Given the description of an element on the screen output the (x, y) to click on. 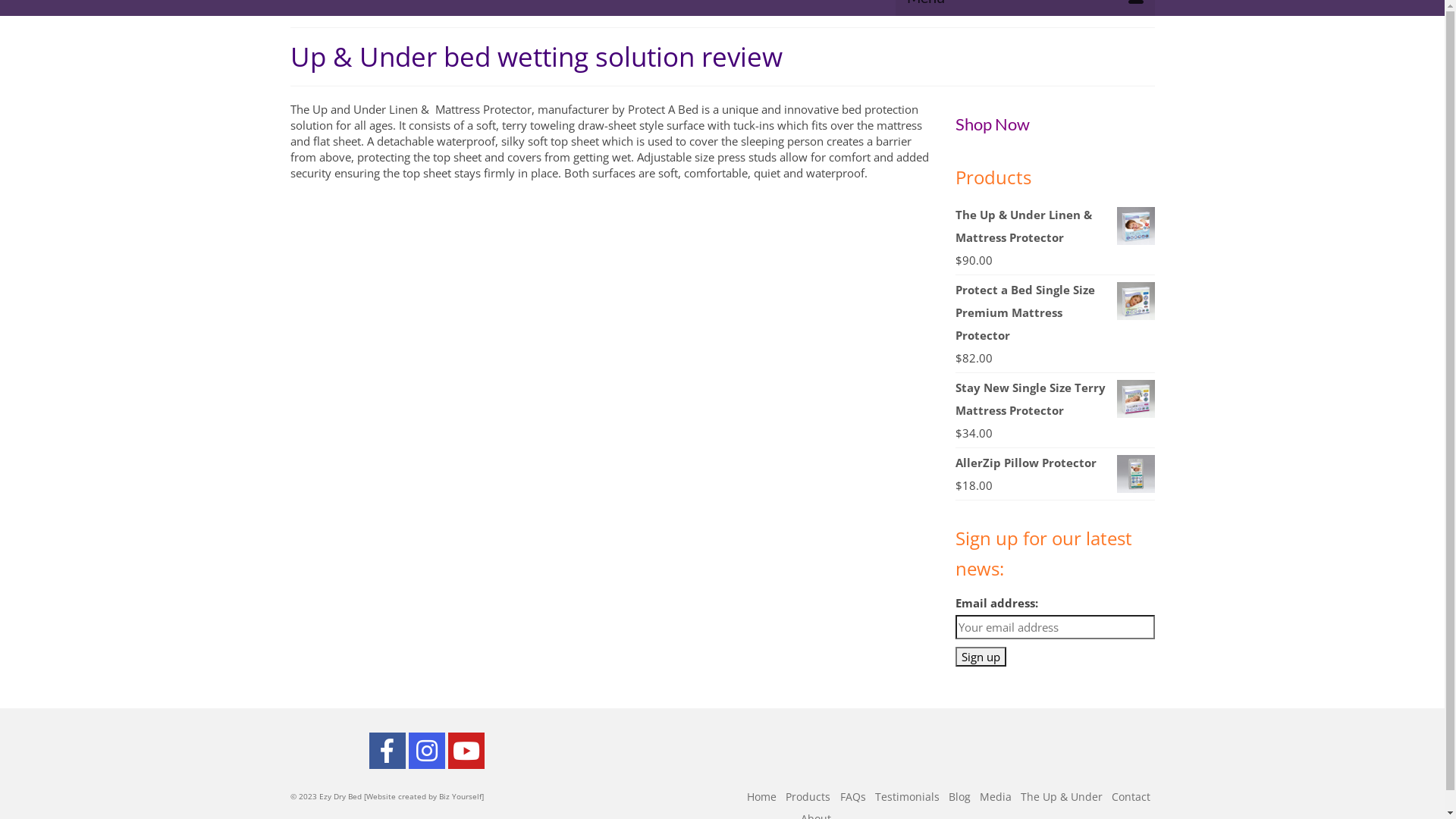
AllerZip Pillow Protector Element type: text (1054, 462)
Stay New Single Size Terry Mattress Protector Element type: text (1054, 398)
Home Element type: text (760, 796)
Instagram Element type: hover (425, 750)
Blog Element type: text (958, 796)
FAQs Element type: text (852, 796)
Media Element type: text (995, 796)
YouTube Element type: hover (465, 750)
Contact Element type: text (1130, 796)
Shop Now  Element type: text (993, 123)
The Up & Under Element type: text (1061, 796)
Instagram Element type: hover (425, 750)
Sign up Element type: text (980, 656)
The Up & Under Linen & Mattress Protector Element type: text (1054, 225)
Products Element type: text (808, 796)
Protect a Bed Single Size Premium Mattress Protector Element type: text (1054, 312)
YouTube Element type: hover (465, 750)
Testimonials Element type: text (907, 796)
Facebook Element type: hover (386, 750)
Facebook Element type: hover (386, 750)
